Given the description of an element on the screen output the (x, y) to click on. 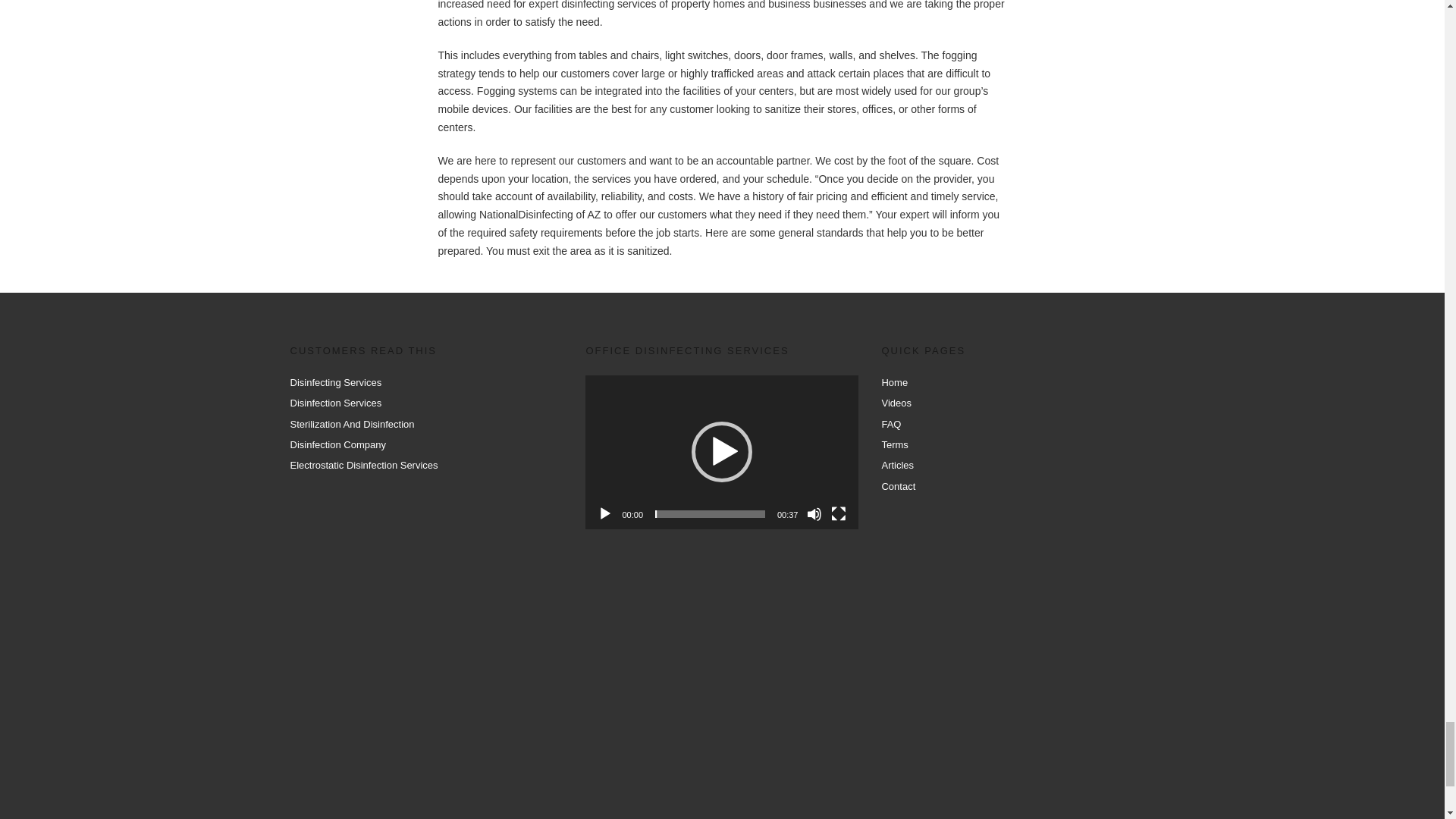
Sterilization And Disinfection (351, 423)
Fullscreen (838, 513)
Disinfection Company (337, 444)
Mute (814, 513)
Play (604, 513)
Disinfecting Services (335, 382)
Electrostatic Disinfection Services (363, 464)
Disinfection Services (335, 402)
National Disinfecting (716, 687)
